Given the description of an element on the screen output the (x, y) to click on. 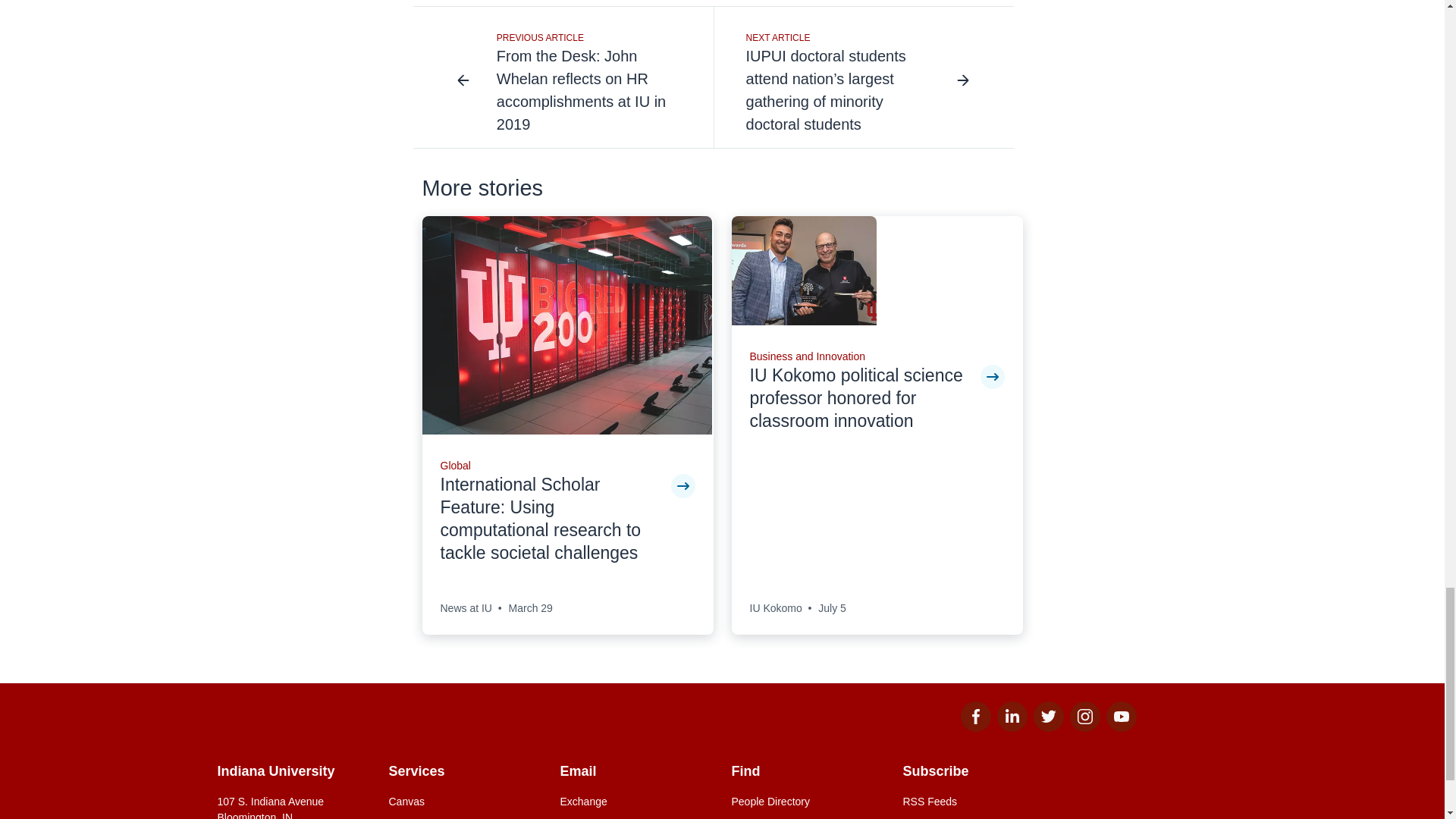
People Directory (806, 801)
Instagram for IU (1083, 727)
Facebook for IU (974, 727)
Linkedin for IU (1010, 727)
RSS Feeds (978, 801)
Exchange (636, 801)
Canvas (464, 801)
One.IU (464, 817)
Youtube for IU (1120, 727)
